Given the description of an element on the screen output the (x, y) to click on. 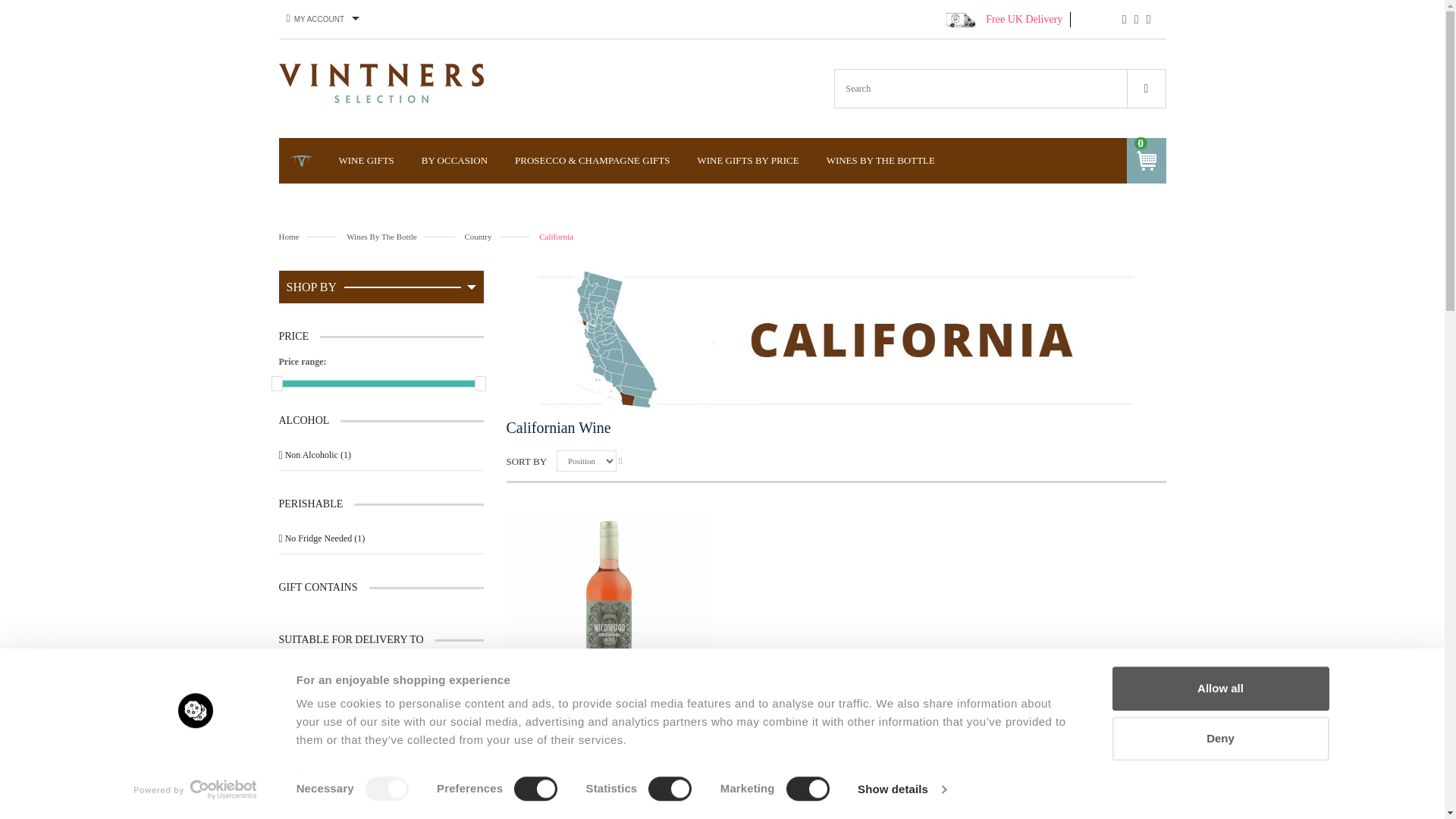
Vintners (381, 83)
Go to Home Page (308, 236)
Show details (900, 789)
Send a mixed wine gift (380, 765)
Search (1146, 88)
